Given the description of an element on the screen output the (x, y) to click on. 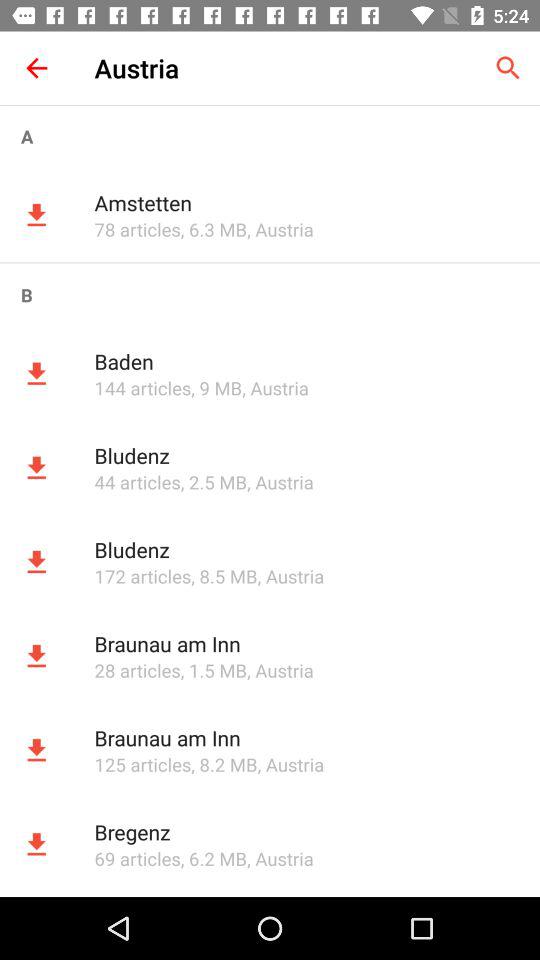
select baden app (306, 361)
